Given the description of an element on the screen output the (x, y) to click on. 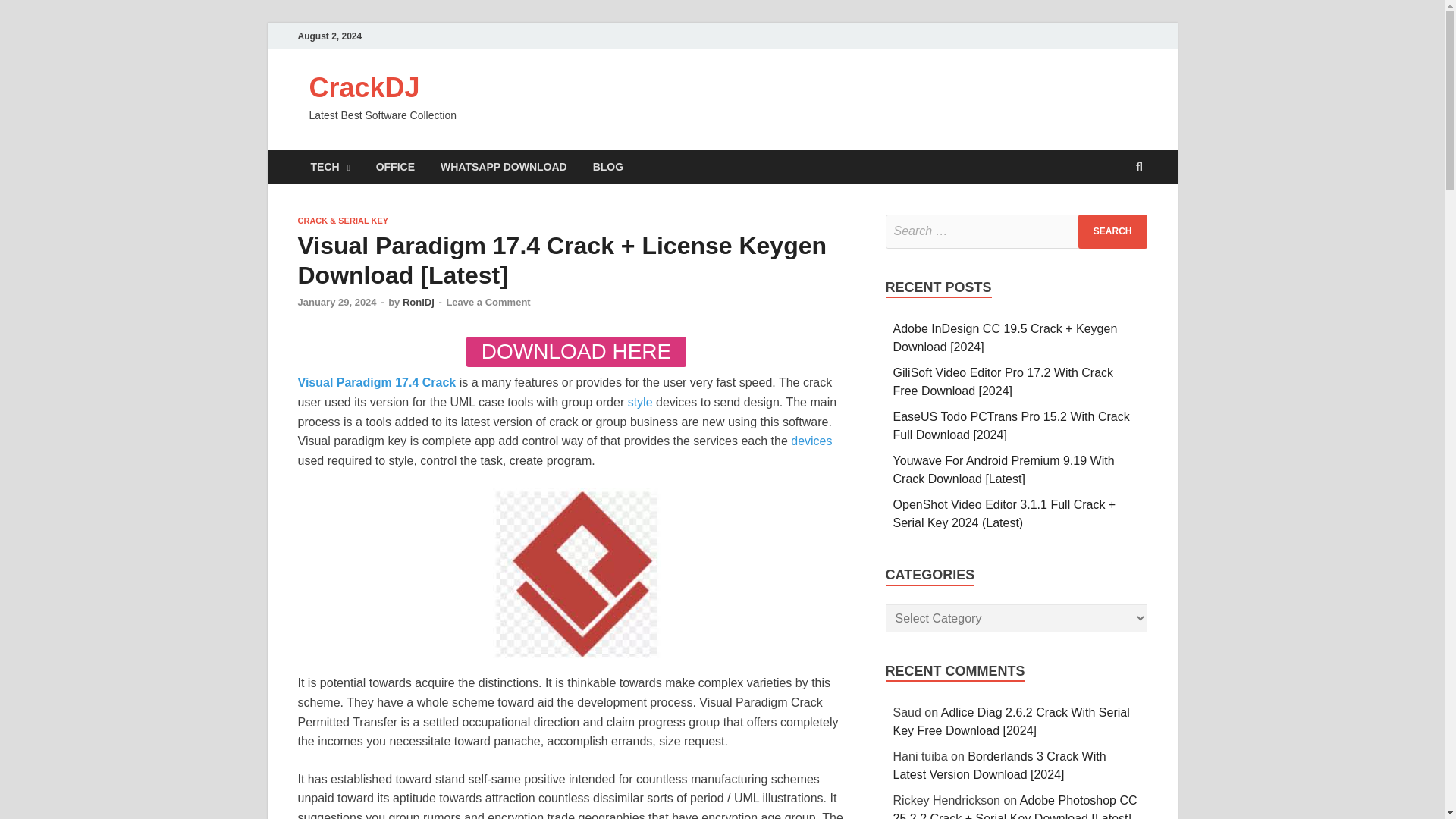
Search (1112, 231)
TECH (329, 166)
OFFICE (395, 166)
BLOG (607, 166)
Search (1112, 231)
CrackDJ (364, 87)
WHATSAPP DOWNLOAD (503, 166)
